Given the description of an element on the screen output the (x, y) to click on. 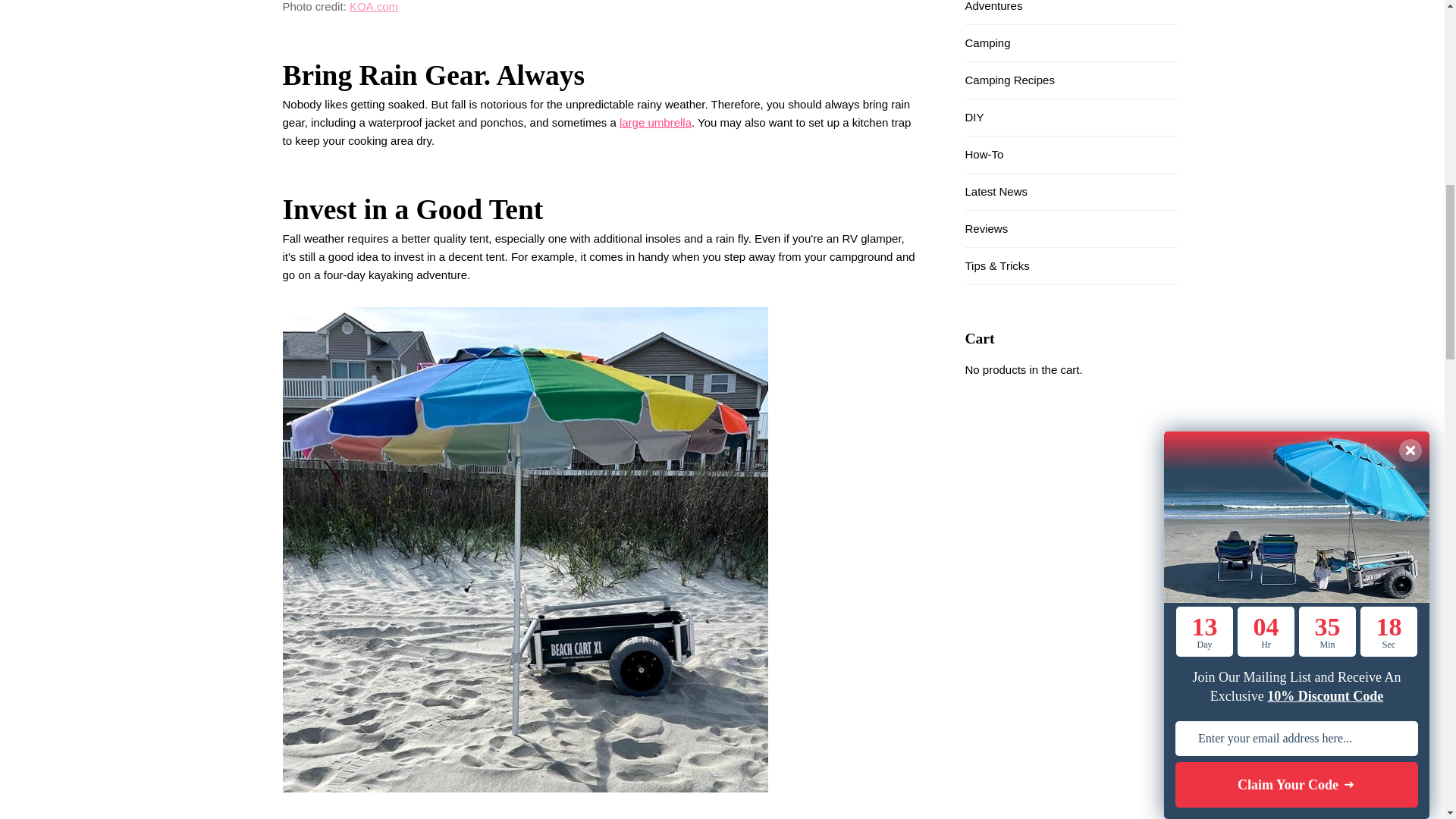
KOA.com (373, 6)
large umbrella (655, 122)
